Given the description of an element on the screen output the (x, y) to click on. 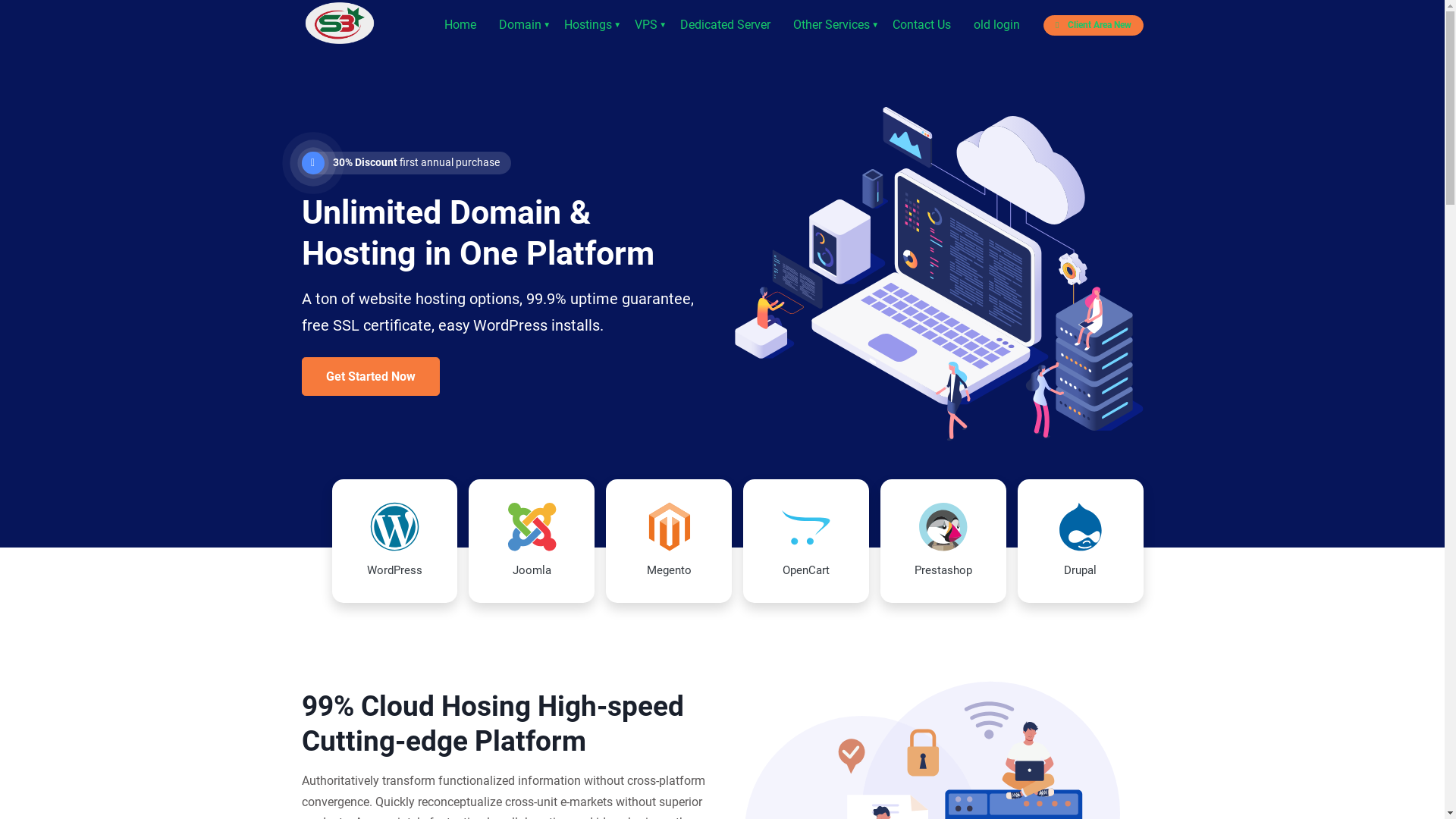
WordPress Element type: text (395, 540)
Contact Us Element type: text (921, 24)
Drupal Element type: text (1080, 540)
Hostings Element type: text (587, 24)
Other Services Element type: text (831, 24)
old login Element type: text (996, 24)
Get Started Now Element type: text (370, 376)
Domain Element type: text (519, 24)
Megento Element type: text (668, 540)
VPS Element type: text (645, 24)
OpenCart Element type: text (806, 540)
Prestashop Element type: text (943, 540)
Home Element type: text (460, 24)
Client Area New Element type: text (1092, 25)
Dedicated Server Element type: text (724, 24)
Joomla Element type: text (531, 540)
